Given the description of an element on the screen output the (x, y) to click on. 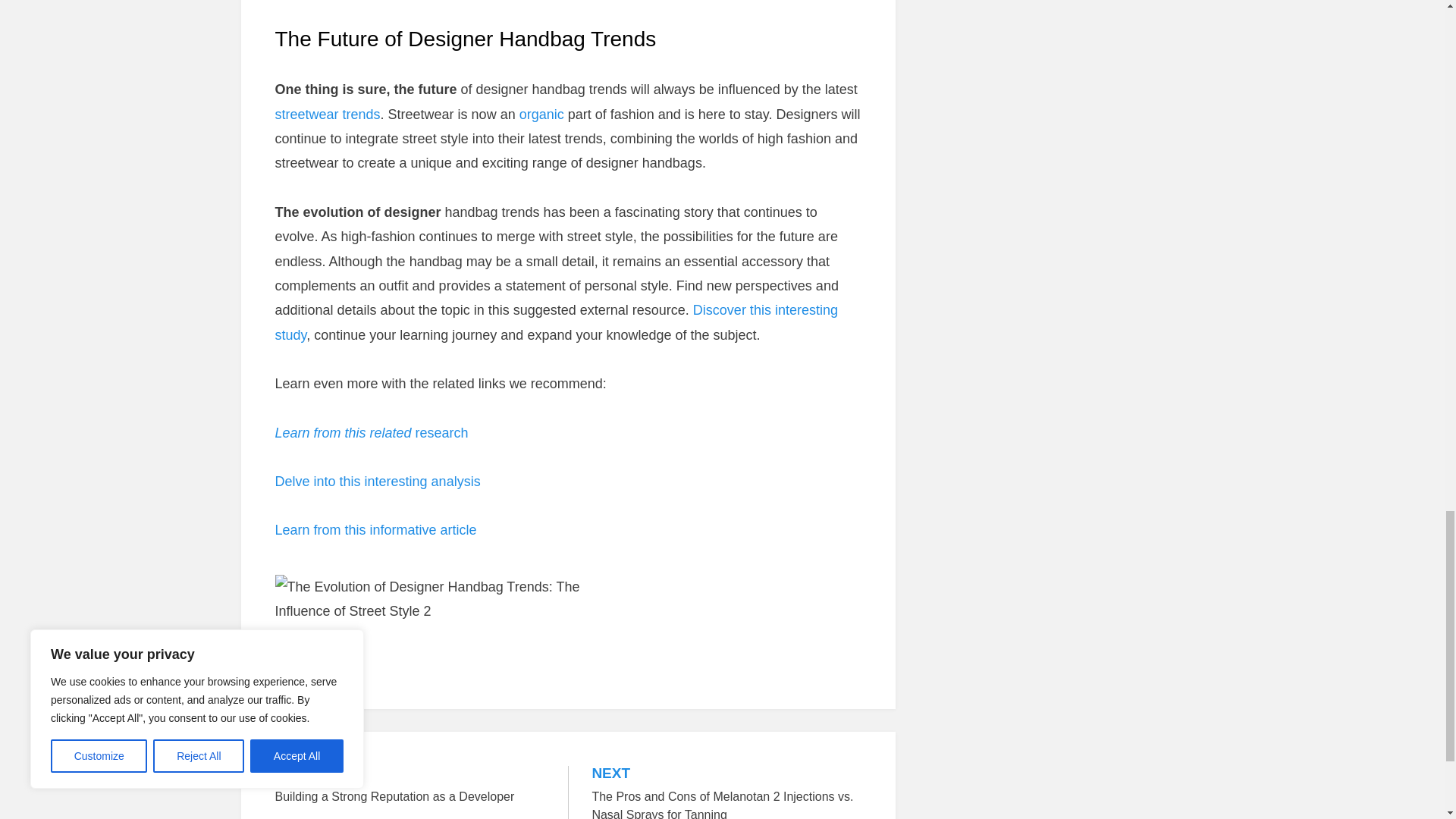
Delve into this interesting analysis (409, 785)
Learn from this informative article (377, 481)
organic (375, 529)
Learn from this related research (541, 114)
streetwear trends (371, 432)
Discover this interesting study (327, 114)
studies (556, 322)
